Given the description of an element on the screen output the (x, y) to click on. 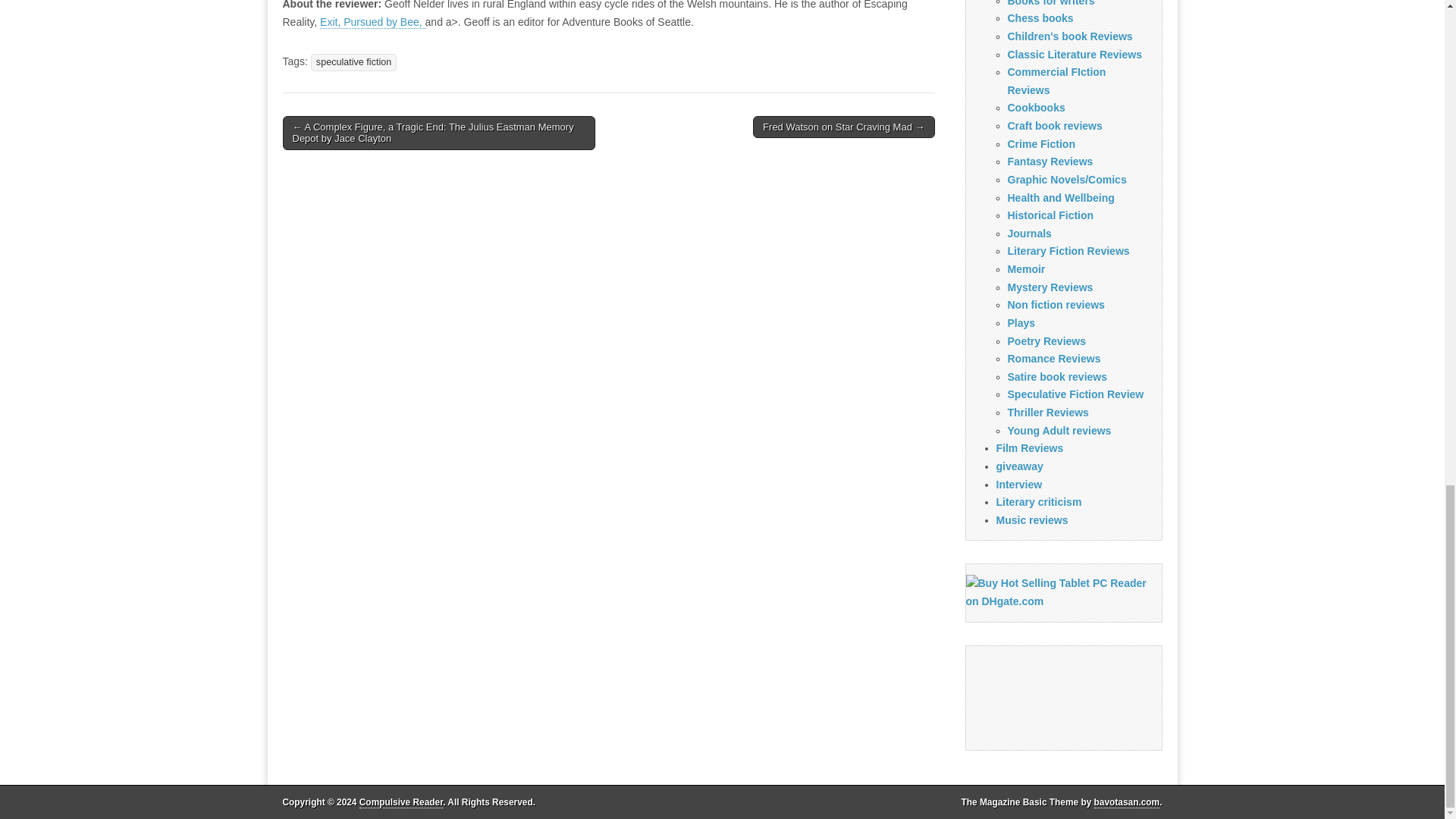
speculative fiction (353, 62)
Classic Literature Reviews (1074, 54)
Cookbooks (1035, 107)
Chess books (1040, 18)
Commercial FIction Reviews (1056, 81)
Exit, Pursued by Bee,  (372, 21)
Books for writers (1050, 3)
Historical Fiction (1050, 215)
Children's book Reviews (1069, 36)
Fantasy Reviews (1050, 161)
Health and Wellbeing (1060, 197)
Crime Fiction (1040, 143)
Craft book reviews (1054, 125)
